Given the description of an element on the screen output the (x, y) to click on. 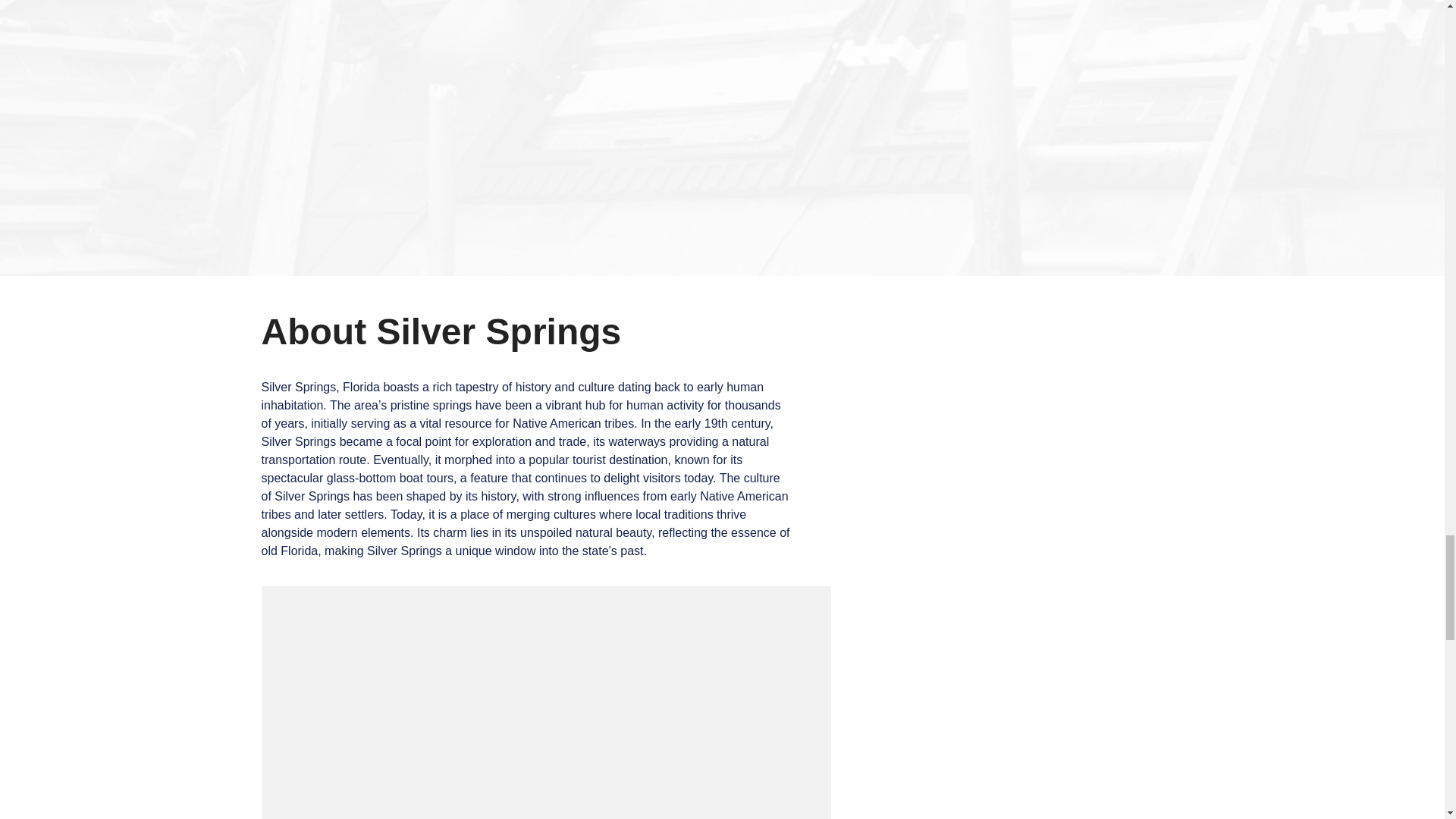
Google map of Silver Springs FL (544, 702)
